Given the description of an element on the screen output the (x, y) to click on. 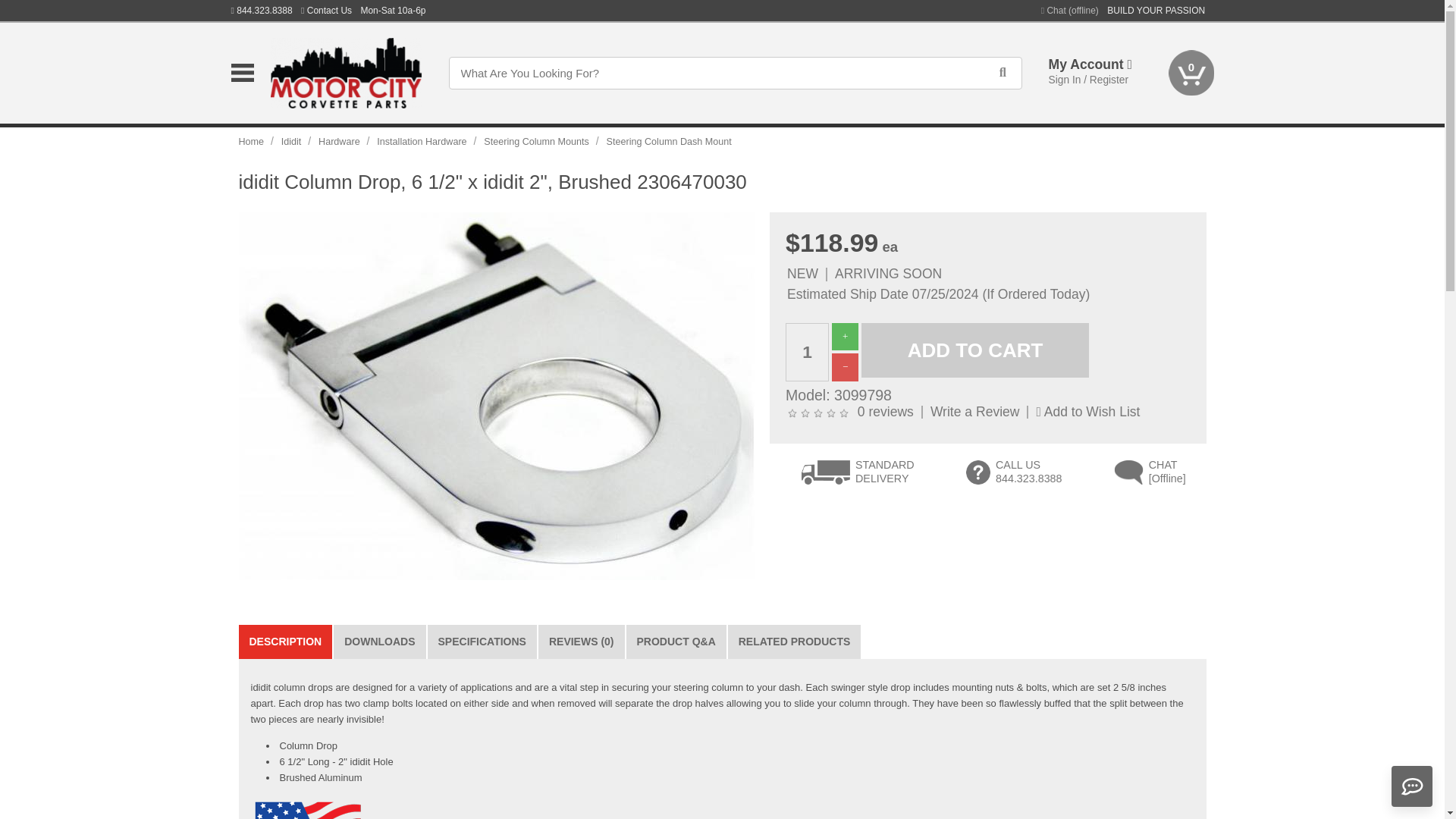
This item ships at the standard ground rate. (858, 474)
1 (807, 351)
Add to Cart (975, 350)
Motor City Vettes (345, 72)
